Given the description of an element on the screen output the (x, y) to click on. 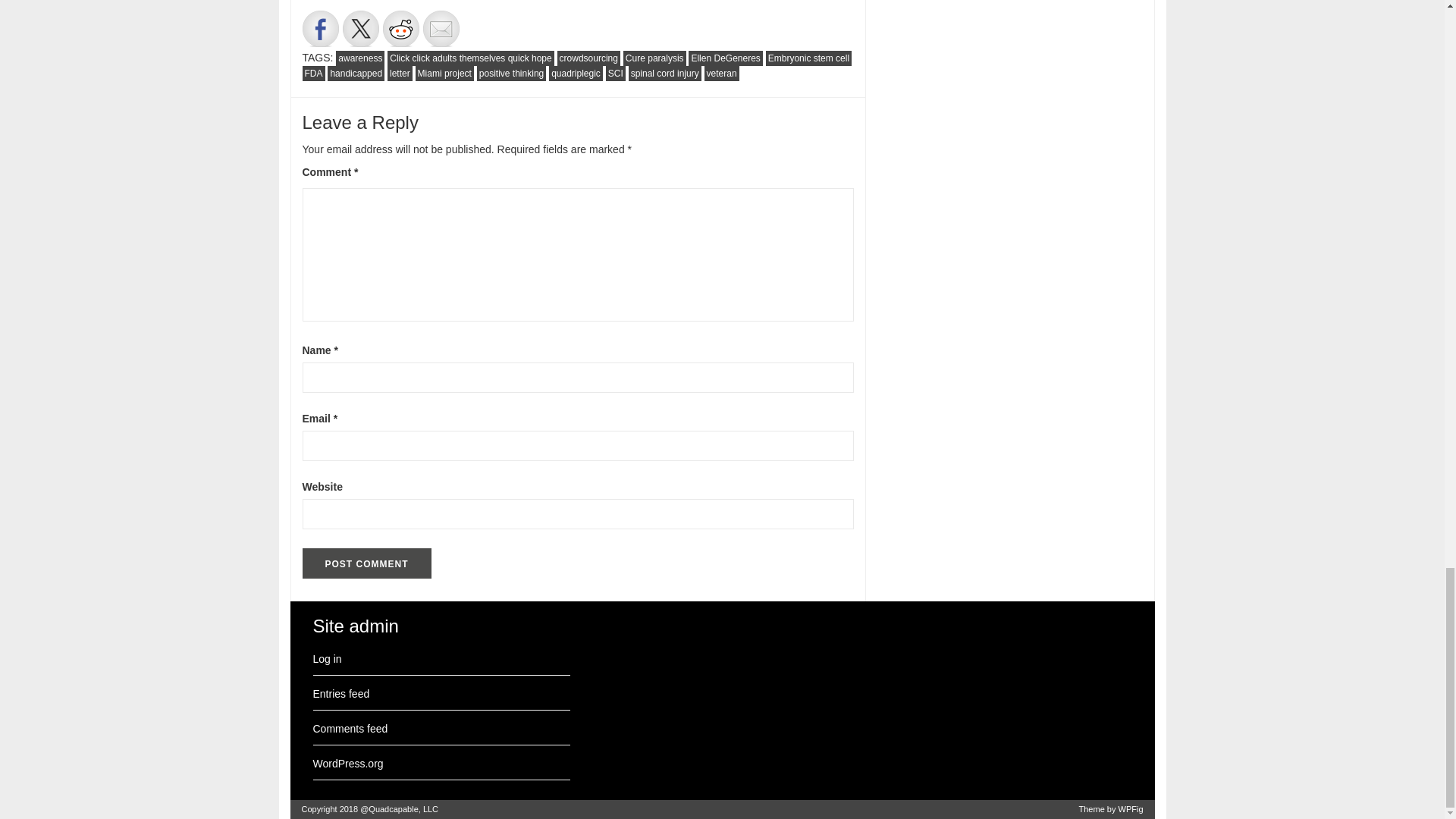
crowdsourcing (588, 58)
Share on Twitter (360, 28)
Click click adults themselves quick hope (470, 58)
Share on Facebook (319, 28)
awareness (360, 58)
Share on Reddit (400, 28)
Post Comment (365, 562)
